Given the description of an element on the screen output the (x, y) to click on. 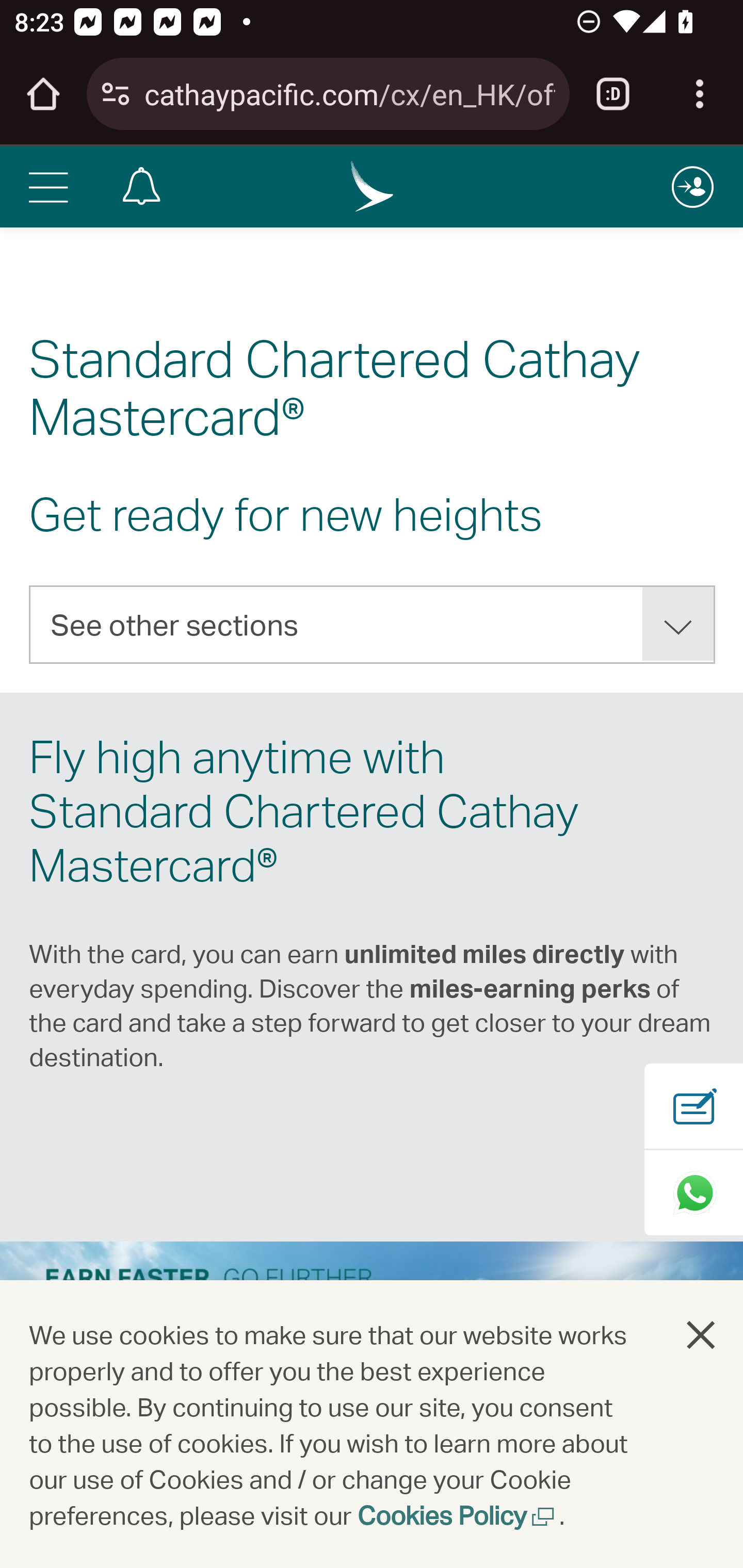
Open the home page (43, 93)
Connection is secure (115, 93)
Switch or close tabs (612, 93)
Customize and control Google Chrome (699, 93)
Menu (47, 186)
Notification centre (141, 186)
en_HK (372, 186)
See other sections (372, 624)
Close (701, 1334)
